Given the description of an element on the screen output the (x, y) to click on. 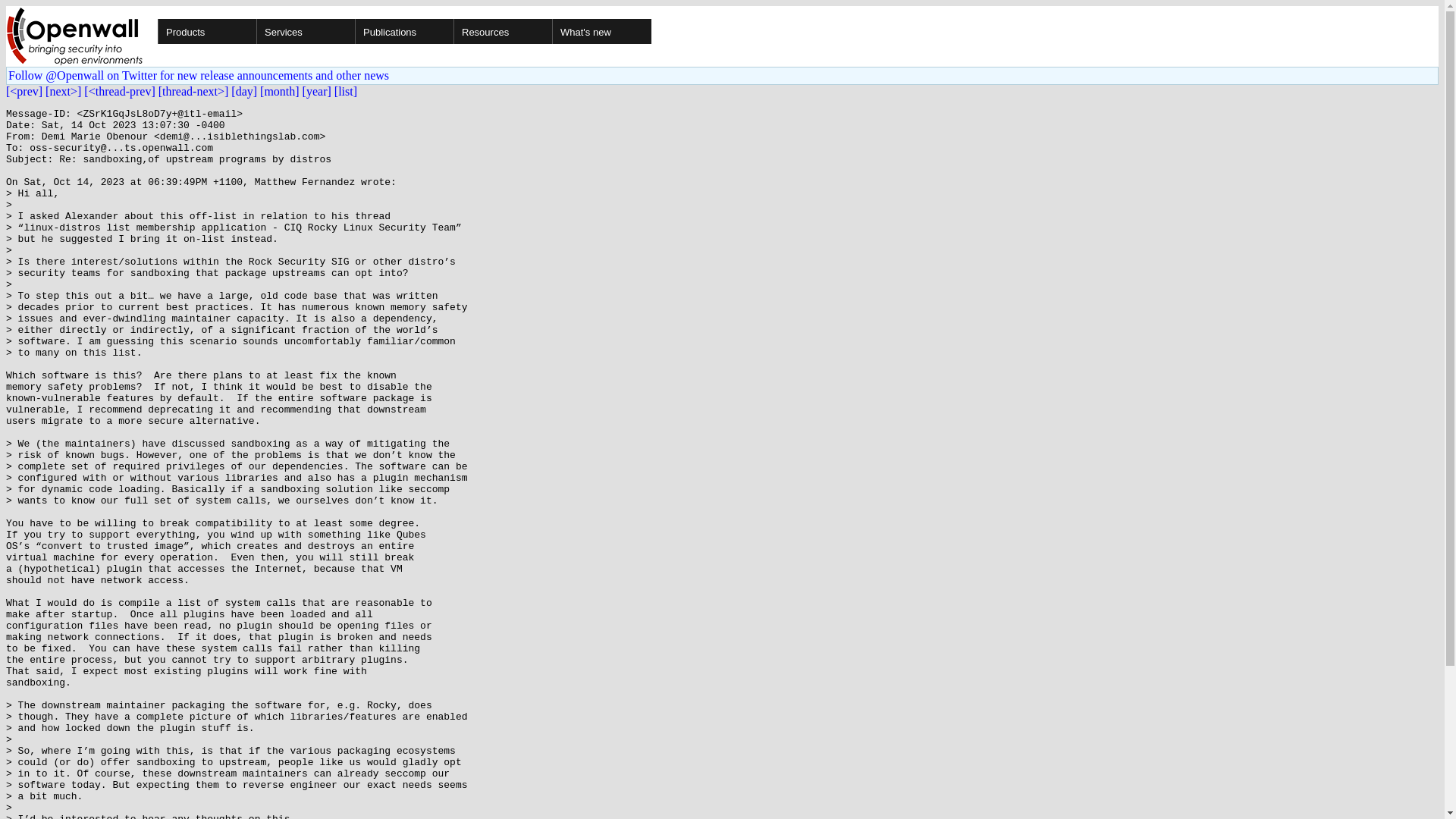
Resources (549, 31)
What's new (600, 31)
Services (352, 31)
Products (254, 31)
Publications (451, 31)
